Given the description of an element on the screen output the (x, y) to click on. 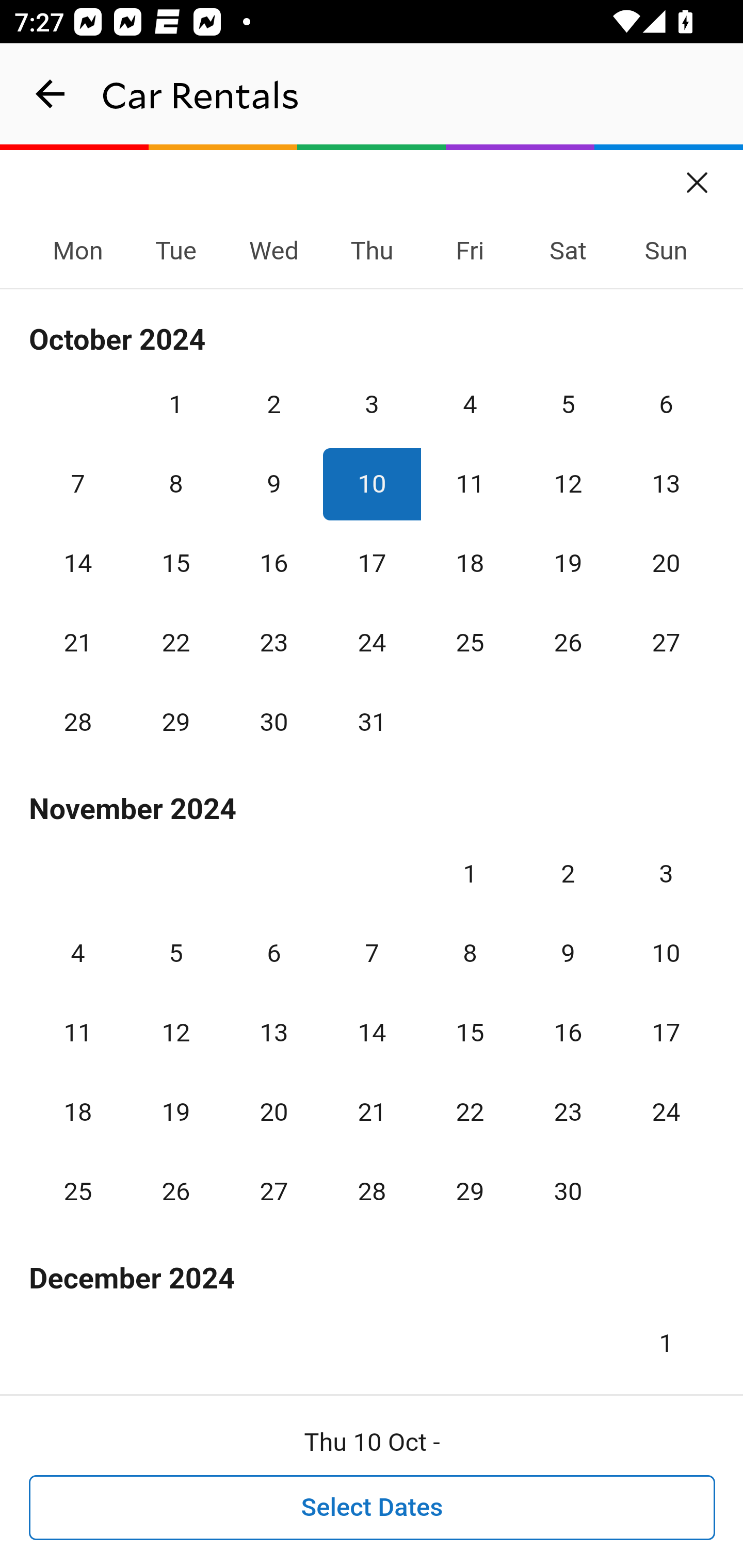
navigation_button (50, 93)
Close (697, 176)
1 October 2024 (175, 404)
2 October 2024 (273, 404)
3 October 2024 (371, 404)
4 October 2024 (470, 404)
5 October 2024 (567, 404)
6 October 2024 (665, 404)
7 October 2024 (77, 484)
8 October 2024 (175, 484)
9 October 2024 (273, 484)
10 October 2024 (371, 484)
11 October 2024 (470, 484)
12 October 2024 (567, 484)
13 October 2024 (665, 484)
14 October 2024 (77, 563)
15 October 2024 (175, 563)
16 October 2024 (273, 563)
17 October 2024 (371, 563)
18 October 2024 (470, 563)
19 October 2024 (567, 563)
20 October 2024 (665, 563)
21 October 2024 (77, 642)
22 October 2024 (175, 642)
23 October 2024 (273, 642)
24 October 2024 (371, 642)
25 October 2024 (470, 642)
26 October 2024 (567, 642)
27 October 2024 (665, 642)
28 October 2024 (77, 722)
29 October 2024 (175, 722)
30 October 2024 (273, 722)
31 October 2024 (371, 722)
1 November 2024 (470, 873)
2 November 2024 (567, 873)
3 November 2024 (665, 873)
4 November 2024 (77, 952)
5 November 2024 (175, 952)
6 November 2024 (273, 952)
7 November 2024 (371, 952)
8 November 2024 (470, 952)
9 November 2024 (567, 952)
10 November 2024 (665, 952)
11 November 2024 (77, 1032)
12 November 2024 (175, 1032)
13 November 2024 (273, 1032)
14 November 2024 (371, 1032)
15 November 2024 (470, 1032)
16 November 2024 (567, 1032)
17 November 2024 (665, 1032)
